Given the description of an element on the screen output the (x, y) to click on. 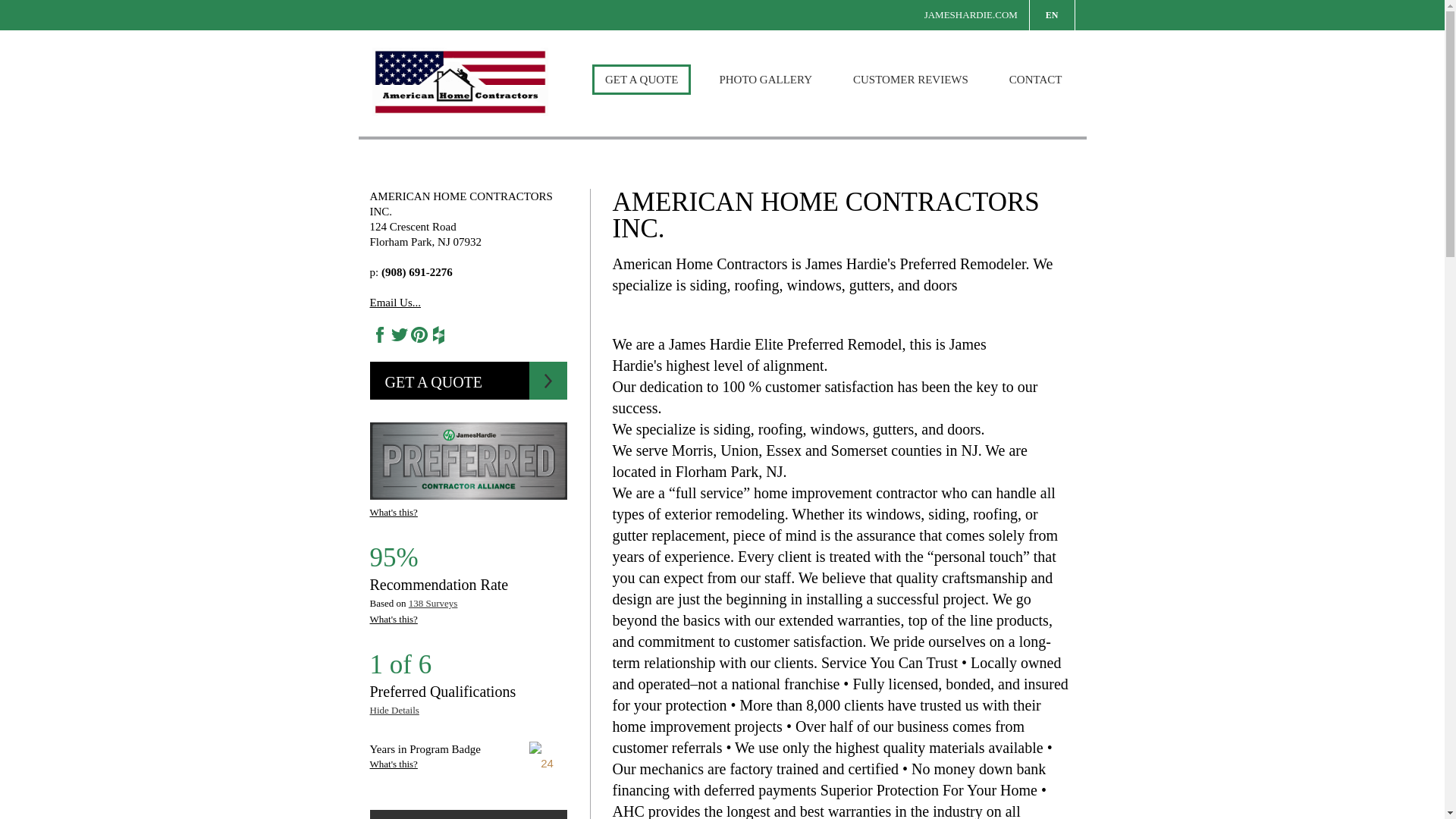
GET A QUOTE (468, 380)
Hide Details (394, 709)
CONTACT (1035, 79)
JAMESHARDIE.COM (970, 15)
CUSTOMER REVIEWS (910, 79)
EN (1051, 15)
GET A QUOTE (641, 79)
PHOTO GALLERY (765, 79)
138 Surveys (433, 603)
Email Us... (395, 302)
